Given the description of an element on the screen output the (x, y) to click on. 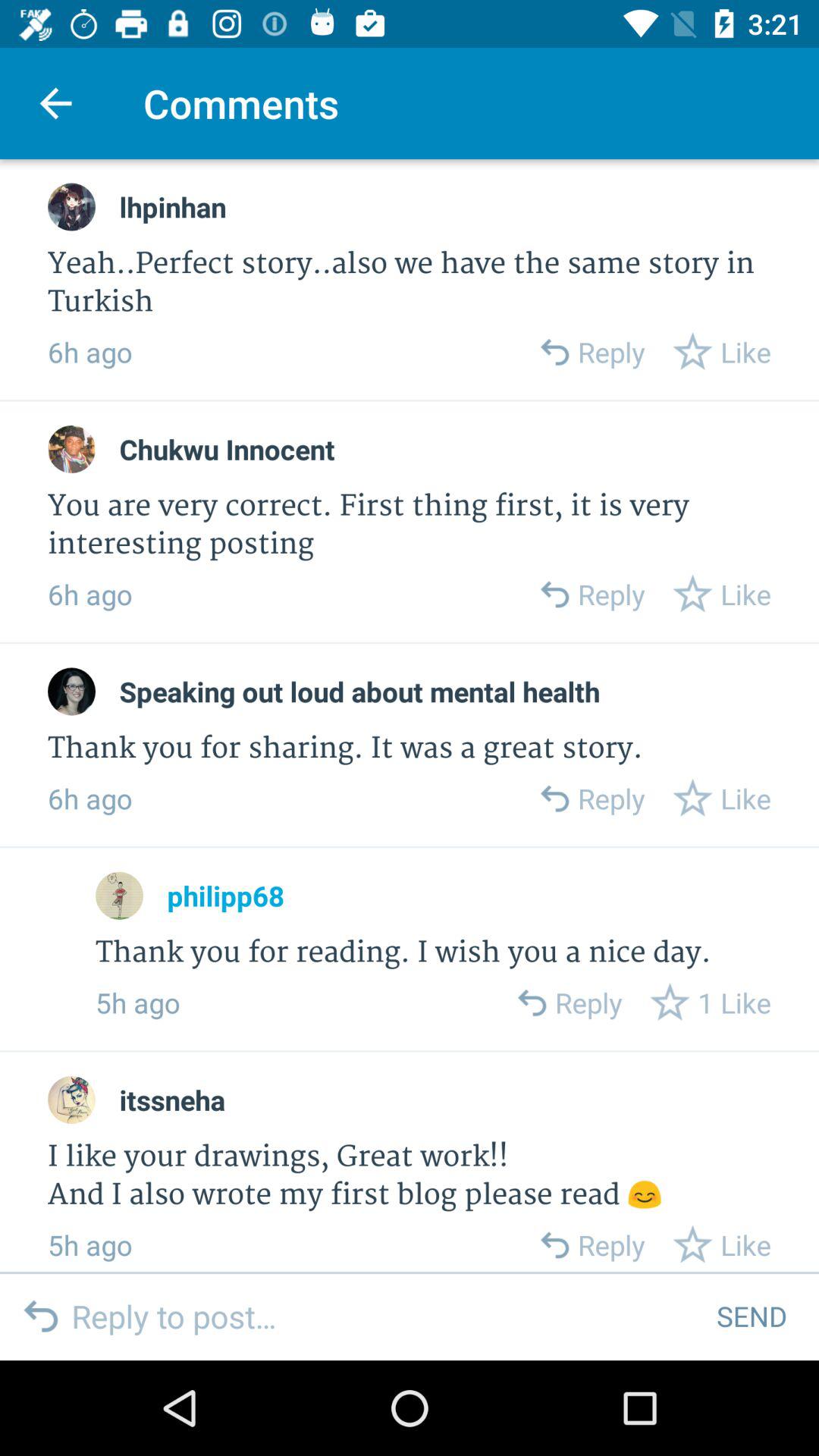
click icon below 6h ago item (226, 449)
